Given the description of an element on the screen output the (x, y) to click on. 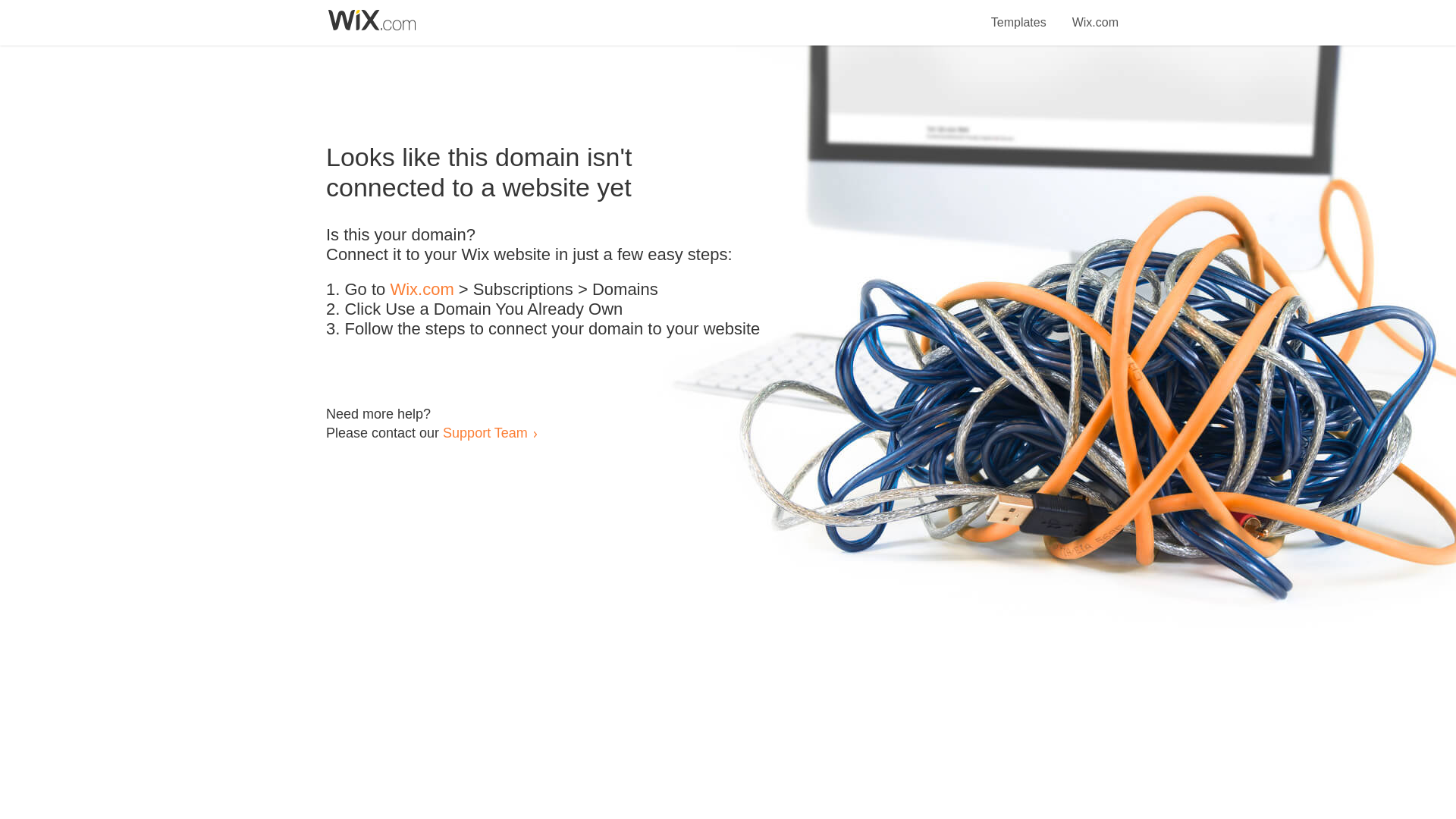
Support Team (484, 432)
Templates (1018, 14)
Wix.com (421, 289)
Wix.com (1095, 14)
